Given the description of an element on the screen output the (x, y) to click on. 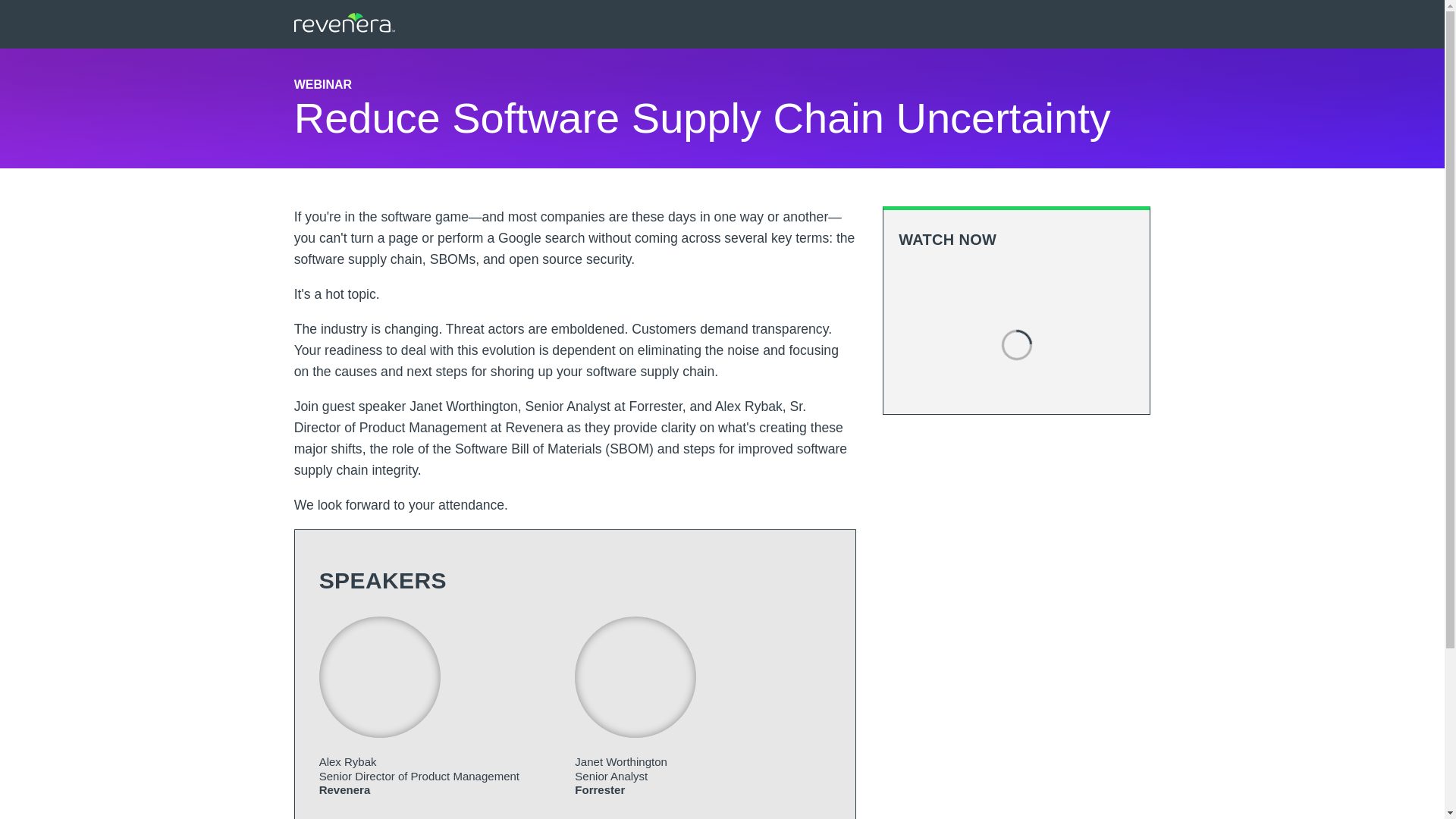
Watch Now (1016, 283)
